Given the description of an element on the screen output the (x, y) to click on. 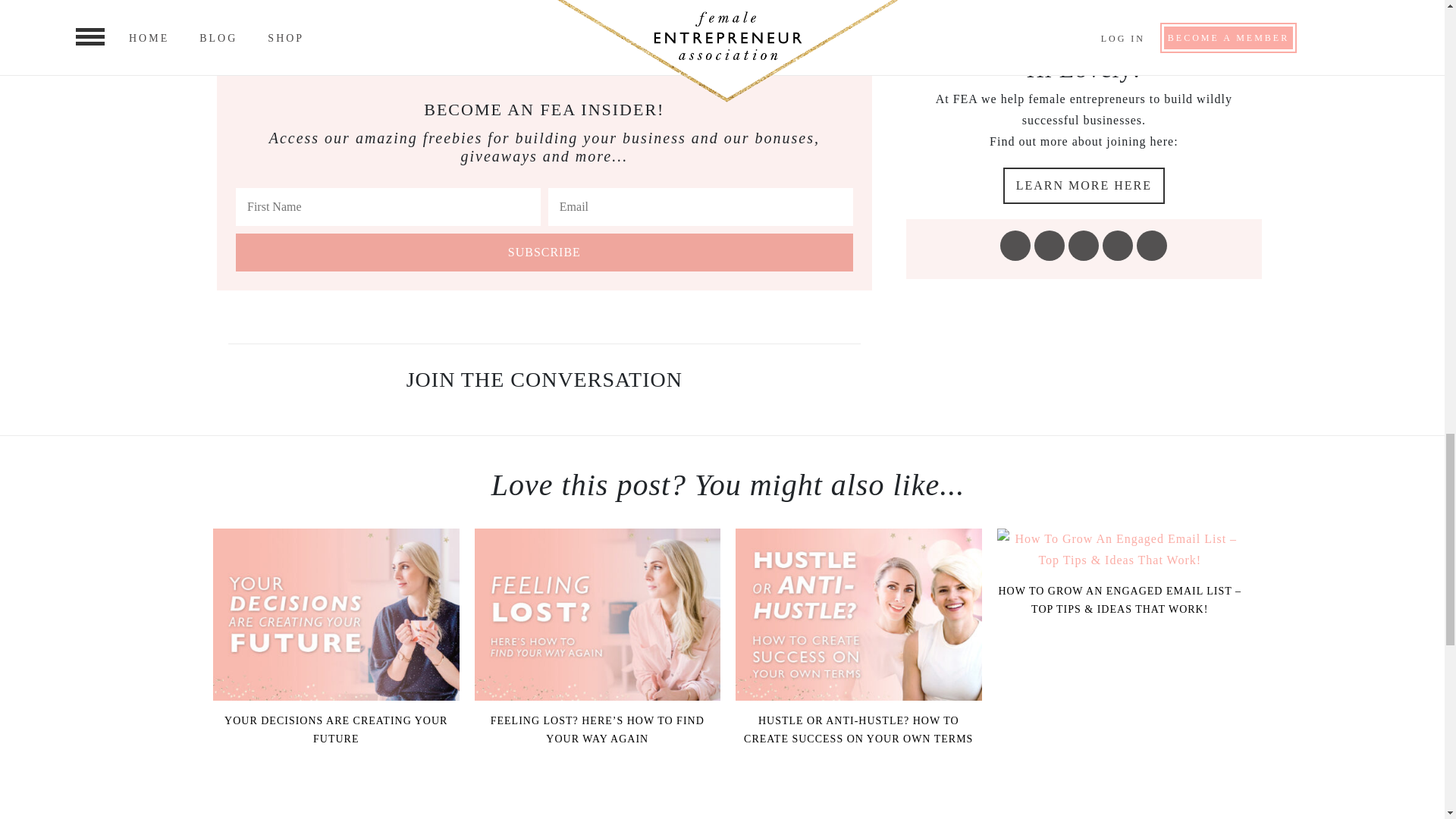
LEARN MORE HERE (1083, 185)
Your Decisions Are Creating Your Future (336, 614)
SUBSCRIBE (544, 252)
